Given the description of an element on the screen output the (x, y) to click on. 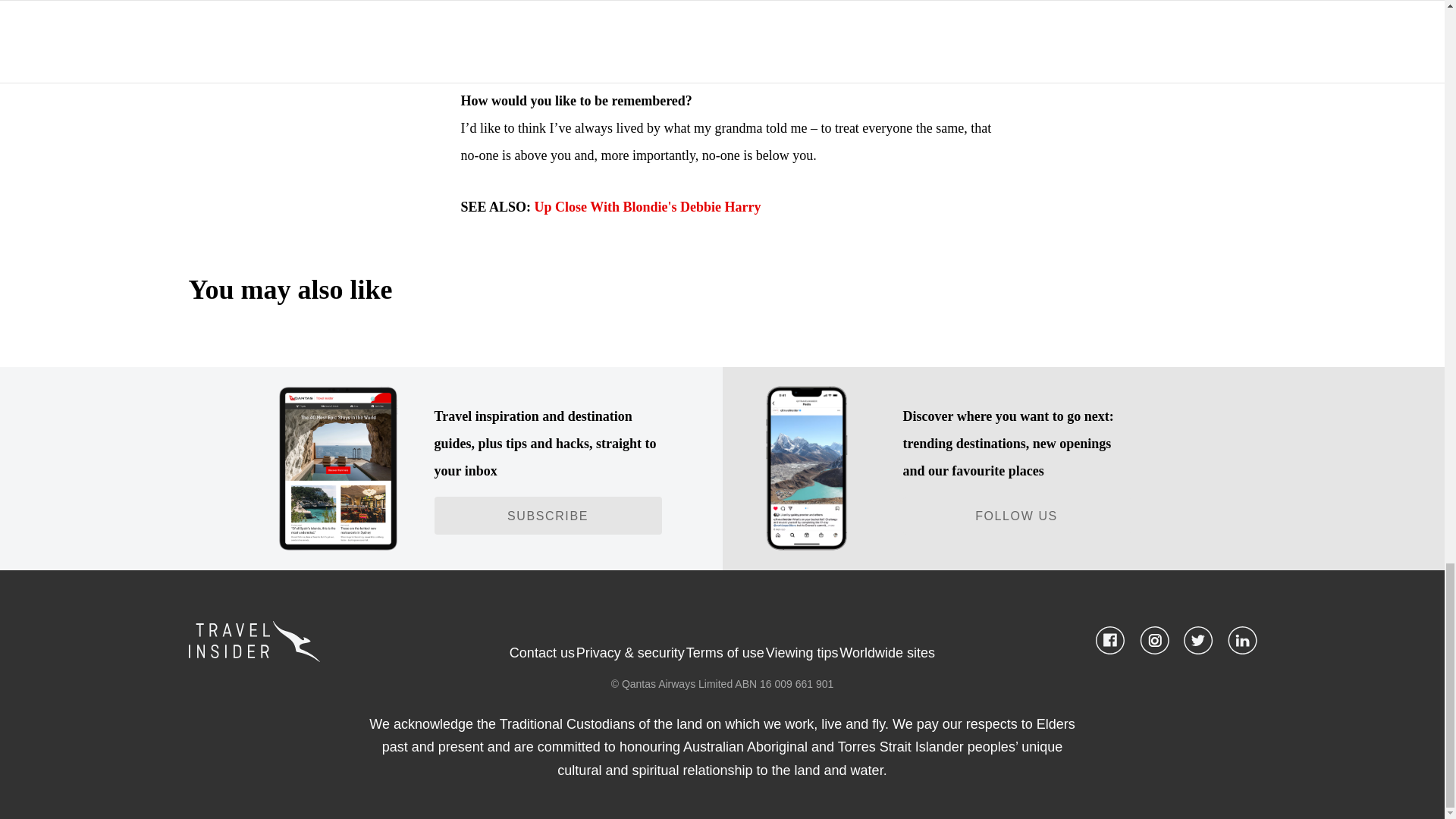
Follow us on our Instagram page (1153, 640)
Follow us on our Twitter page (1197, 640)
Up Close With Blondie's Debbie Harry (647, 206)
Travel Insider (347, 640)
Travel Insider (255, 640)
Follow us on our Facebook page (1109, 640)
Follow us on our Linkedin page (1241, 640)
